Given the description of an element on the screen output the (x, y) to click on. 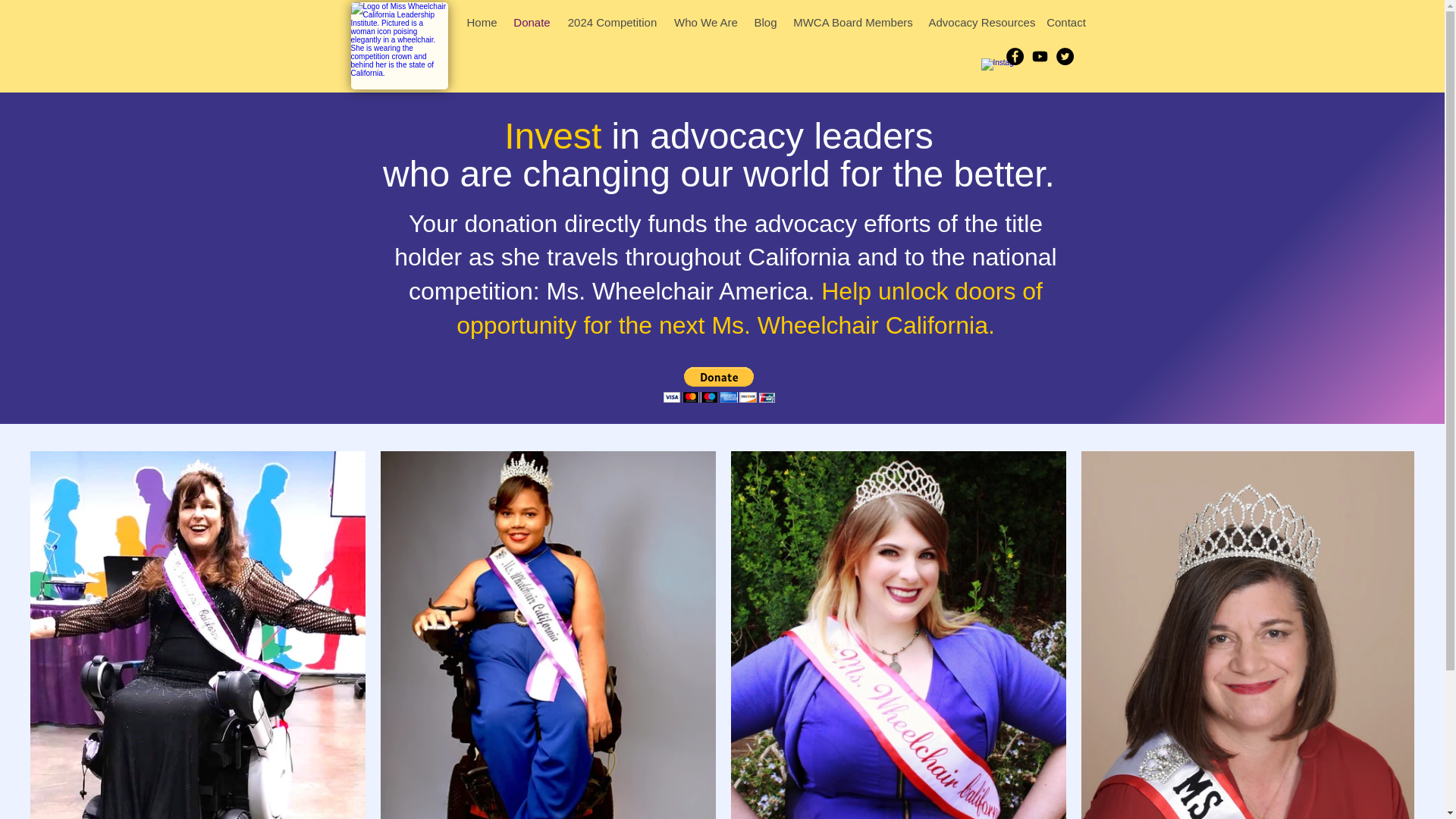
Home (481, 22)
Contact (1066, 22)
Donate (531, 22)
MWCA logo (398, 45)
Advocacy Resources (979, 22)
MWCA Board Members (853, 22)
Blog (765, 22)
2024 Competition (611, 22)
Who We Are (705, 22)
